Given the description of an element on the screen output the (x, y) to click on. 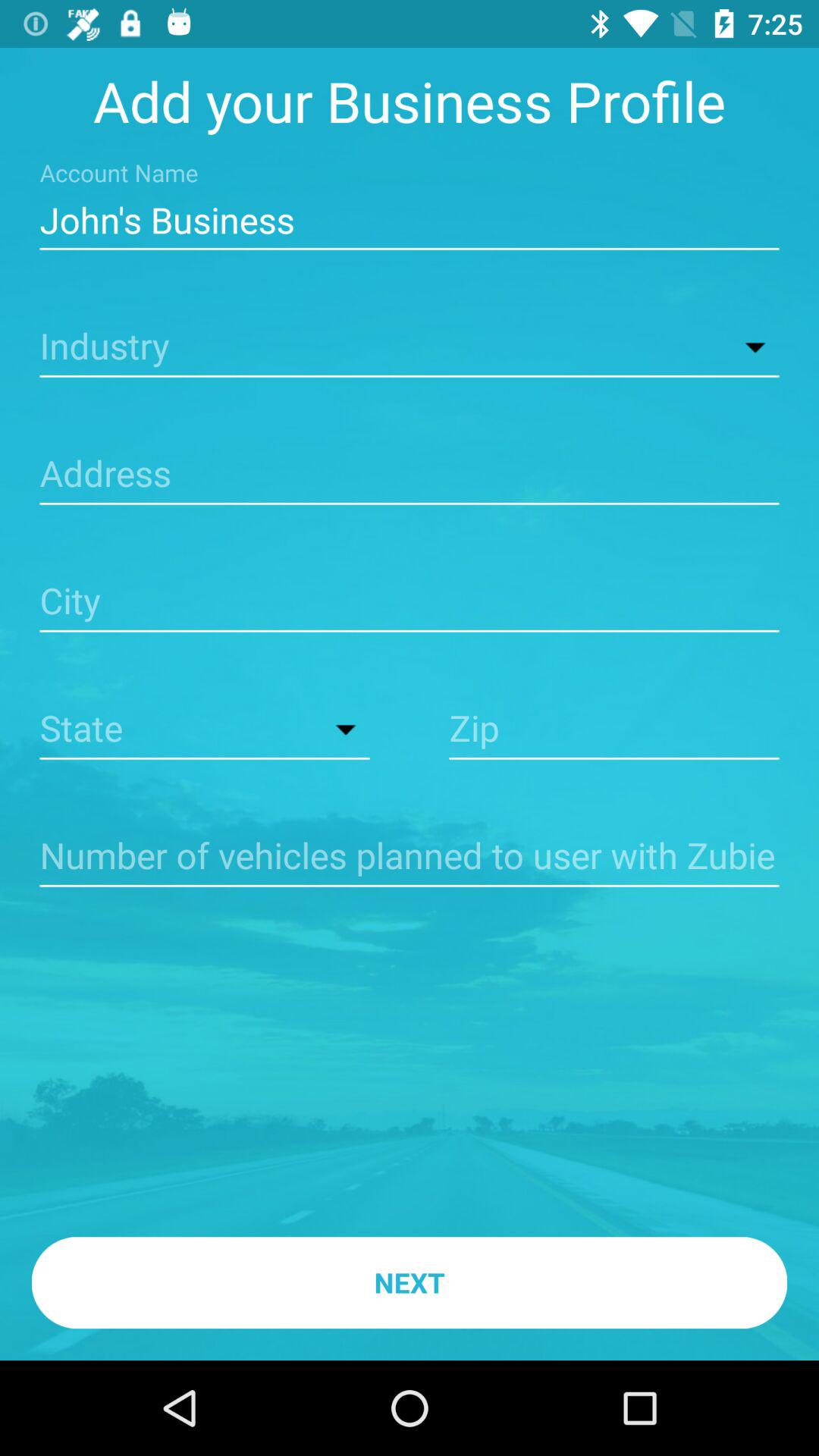
industry detail (409, 348)
